Given the description of an element on the screen output the (x, y) to click on. 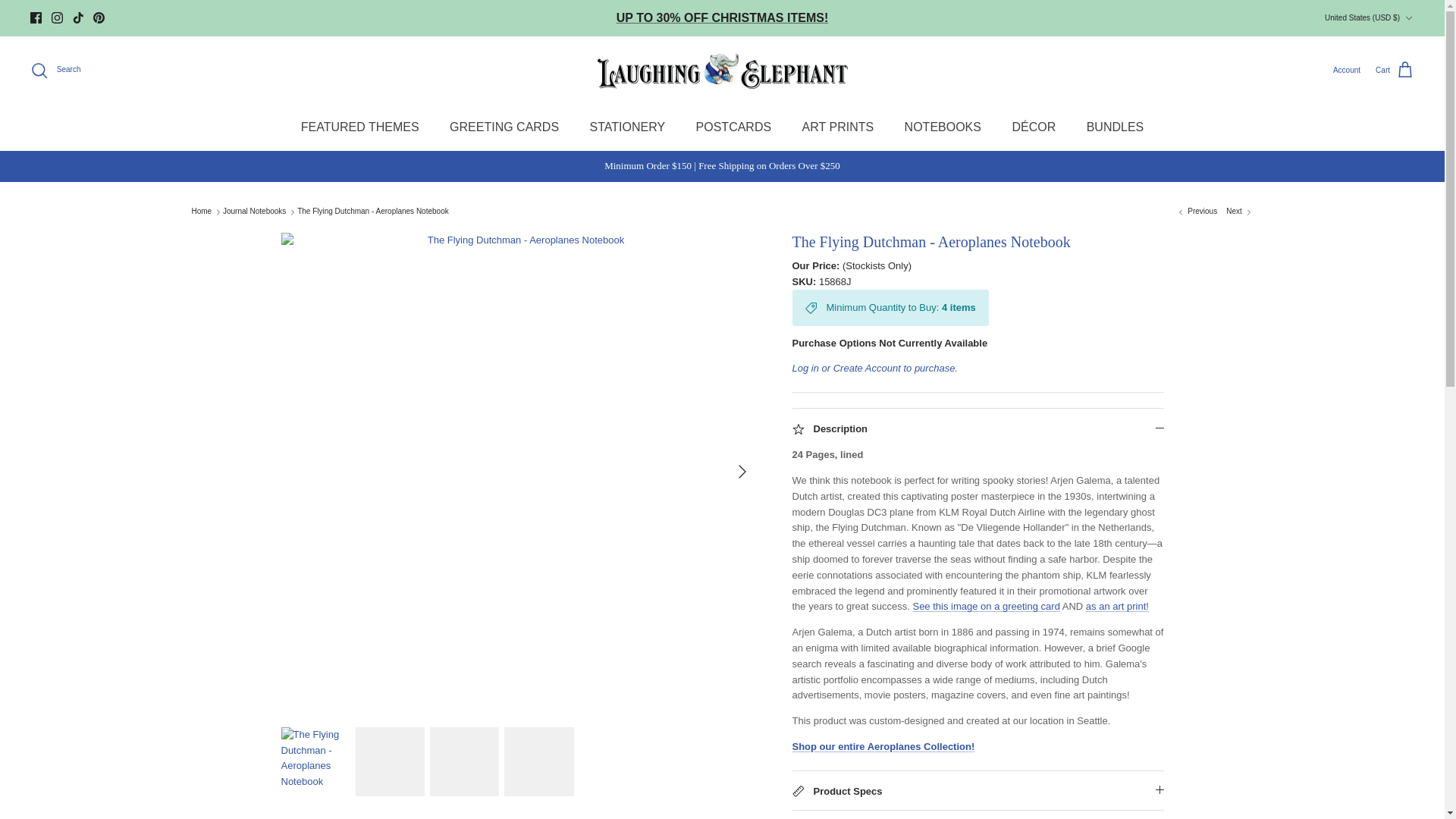
Instagram (56, 17)
Laughing Elephant Wholesale (721, 70)
Christmas (721, 17)
Littoria Savola - Aeroplanes Notebook (1238, 211)
Sabena Rapidite - Aeroplanes Notebook (1196, 211)
Down (1408, 18)
Facebook (36, 17)
Facebook (36, 17)
Pinterest (98, 17)
The Flying Dutchman - Aeroplanes Art Print (1117, 605)
Pinterest (98, 17)
Aeroplanes Collection (883, 746)
RIGHT (741, 471)
Instagram (56, 17)
The Flying Dutchman - Aeroplanes Greeting Card (985, 605)
